Given the description of an element on the screen output the (x, y) to click on. 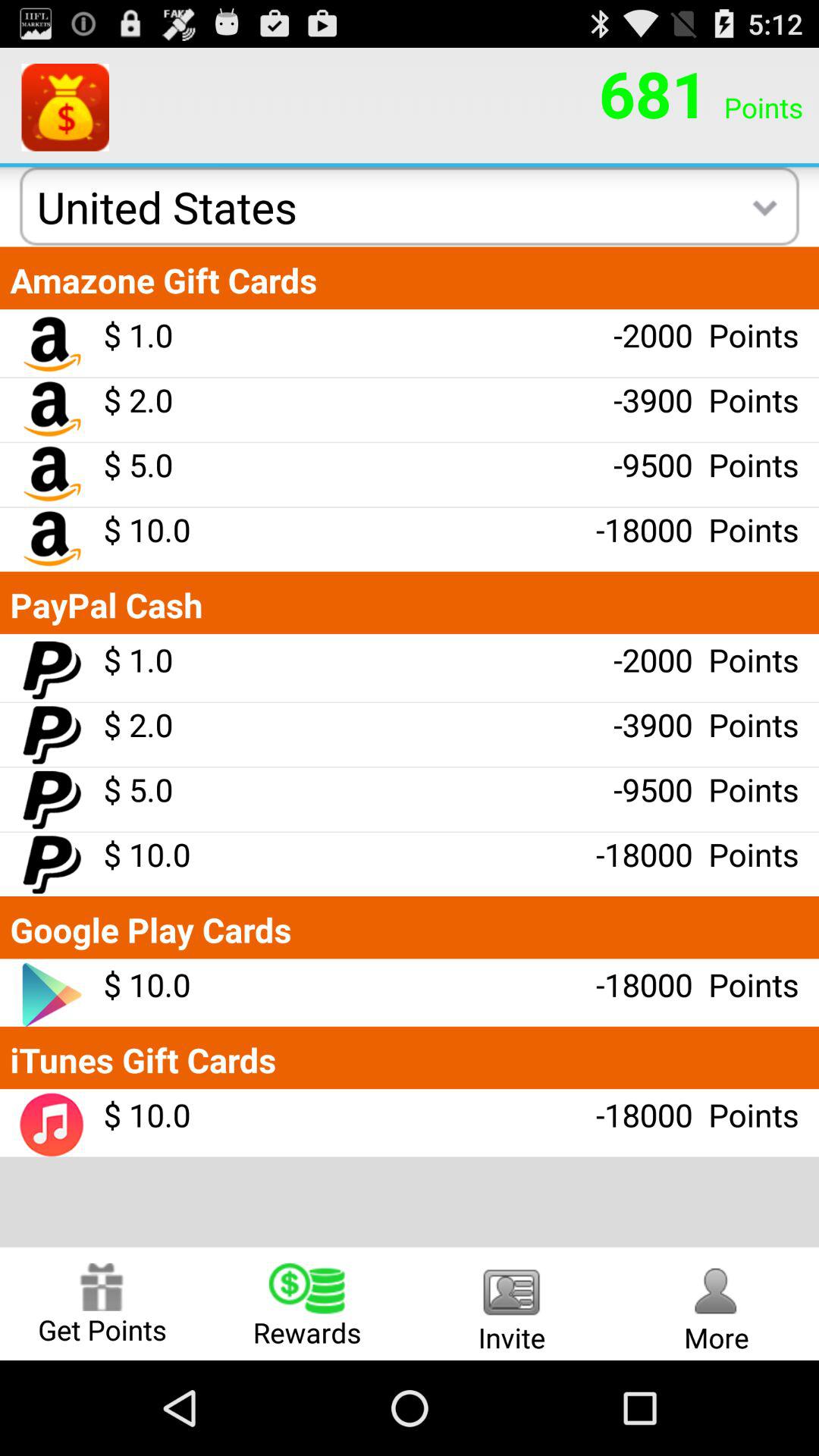
tap the radio button next to invite icon (306, 1303)
